Given the description of an element on the screen output the (x, y) to click on. 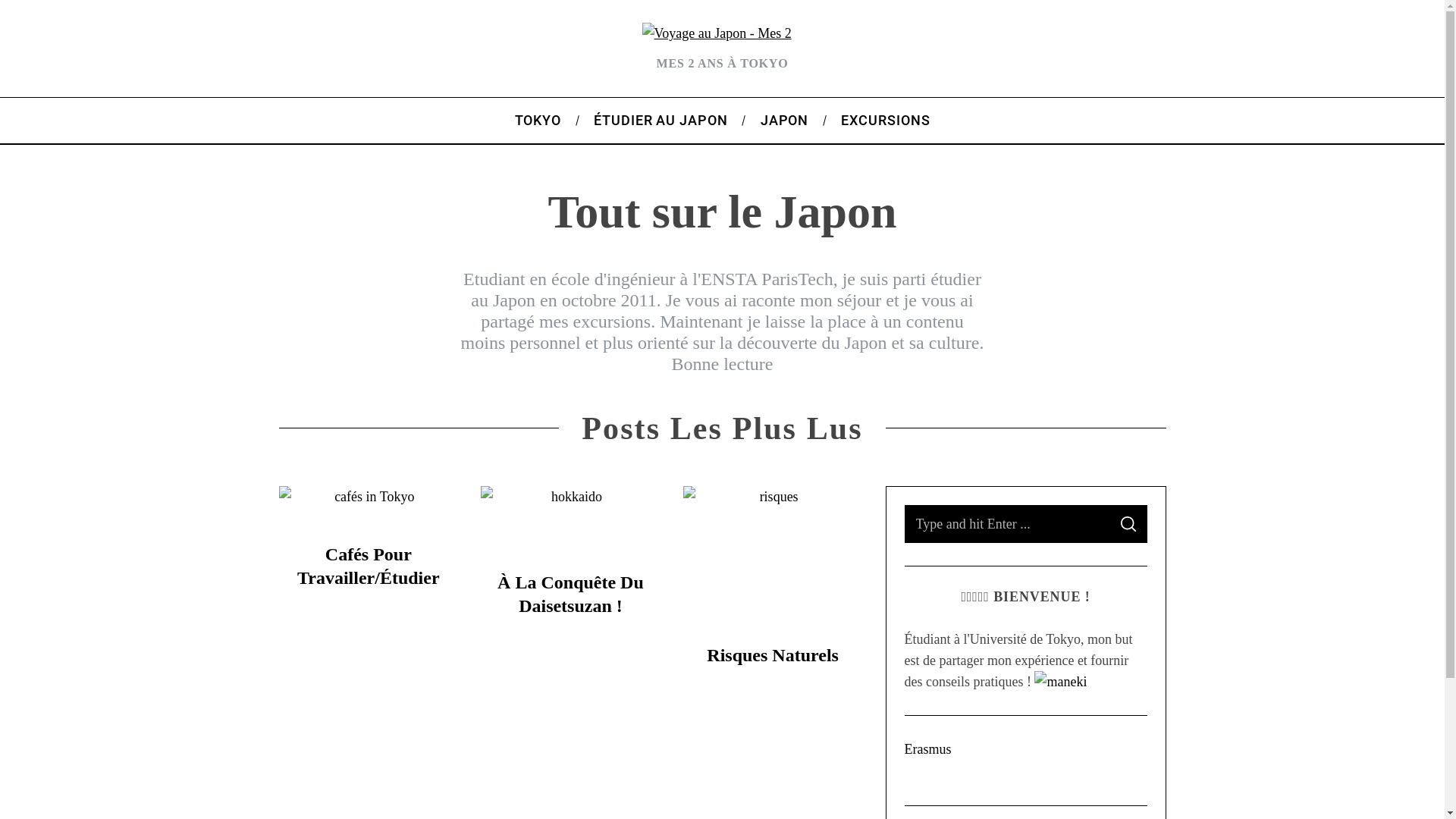
SEARCH Element type: text (1127, 523)
Risques Naturels Element type: hover (772, 559)
JAPON Element type: text (784, 120)
EXCURSIONS Element type: text (885, 120)
Erasmus Element type: text (926, 748)
Risques Naturels Element type: text (772, 655)
TOKYO Element type: text (537, 120)
